Given the description of an element on the screen output the (x, y) to click on. 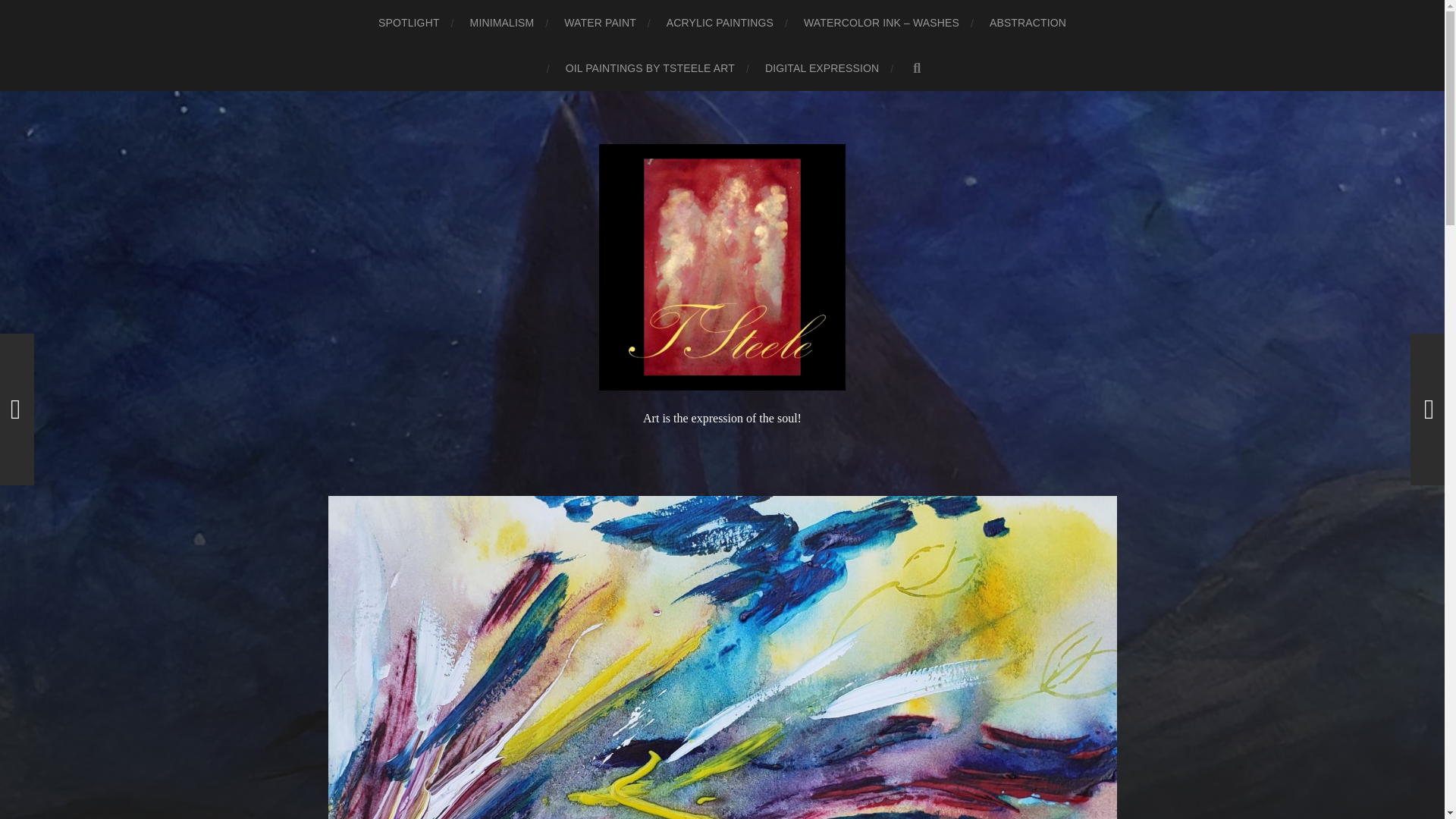
OIL PAINTINGS BY TSTEELE ART (650, 67)
ACRYLIC PAINTINGS (719, 22)
WATER PAINT (600, 22)
ABSTRACTION (1027, 22)
DIGITAL EXPRESSION (822, 67)
SPOTLIGHT (408, 22)
MINIMALISM (502, 22)
